Given the description of an element on the screen output the (x, y) to click on. 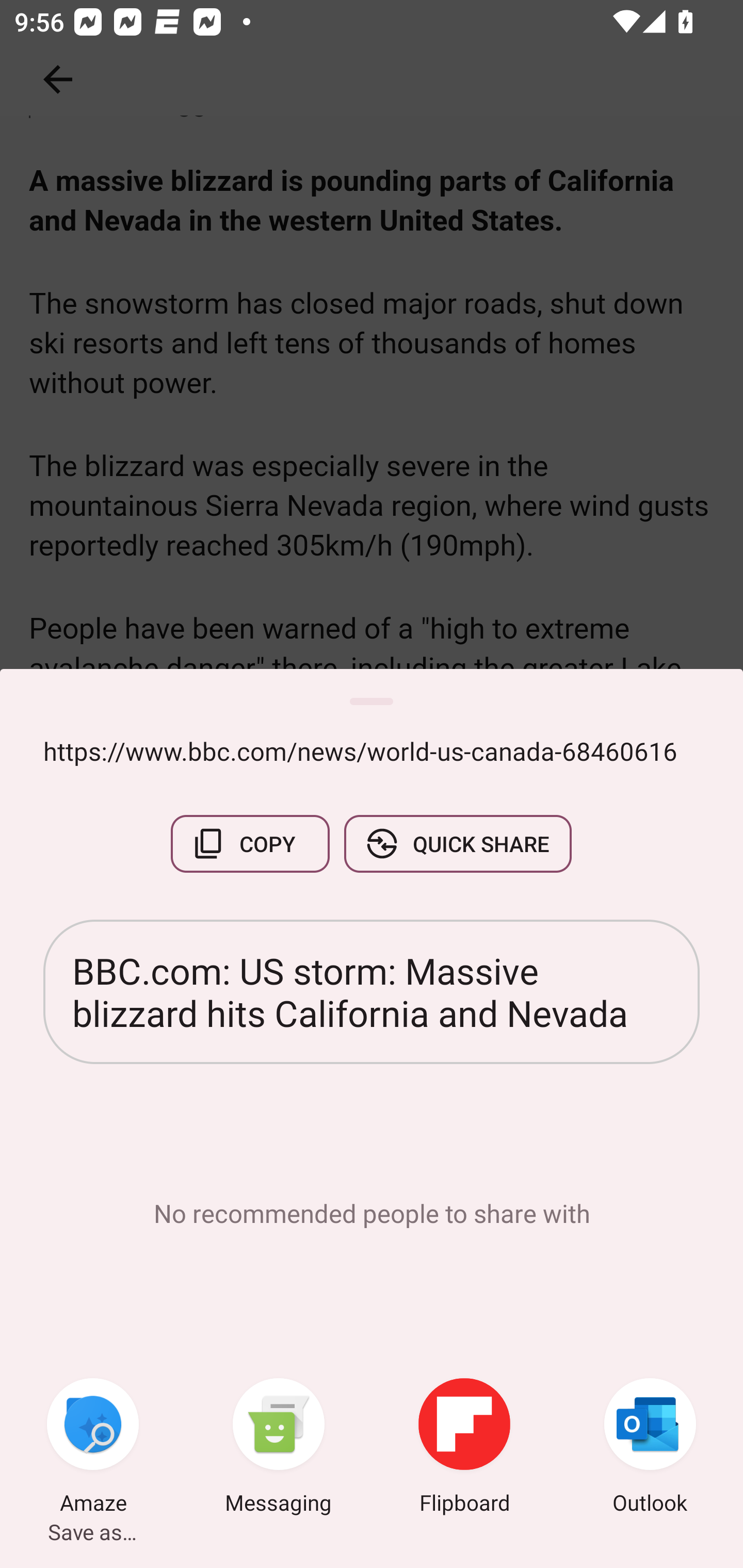
COPY (249, 844)
QUICK SHARE (457, 844)
Amaze Save as… (92, 1448)
Messaging (278, 1448)
Flipboard (464, 1448)
Outlook (650, 1448)
